Given the description of an element on the screen output the (x, y) to click on. 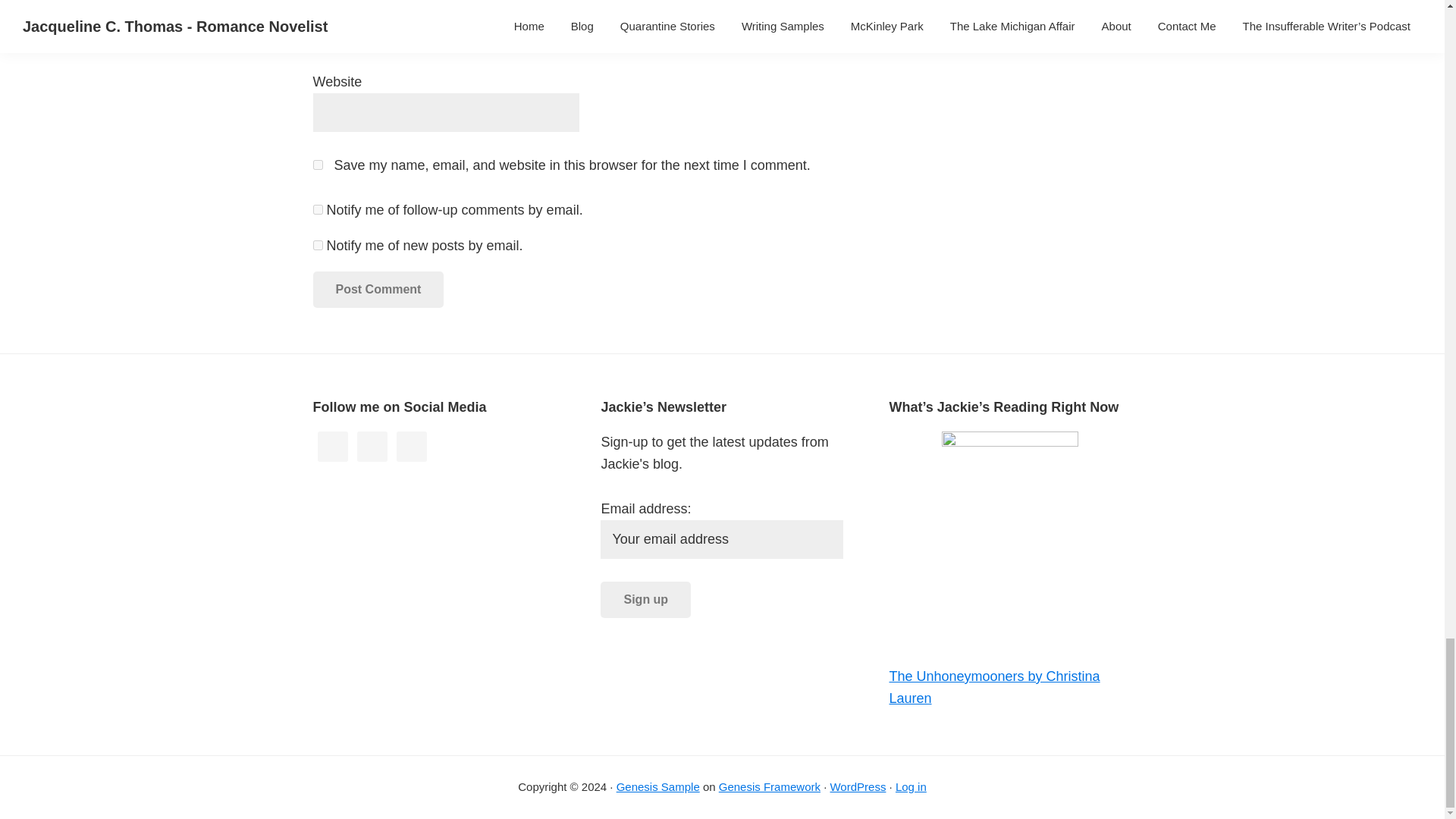
Sign up (644, 599)
yes (317, 164)
Post Comment (378, 289)
subscribe (317, 245)
subscribe (317, 209)
Post Comment (378, 289)
